Given the description of an element on the screen output the (x, y) to click on. 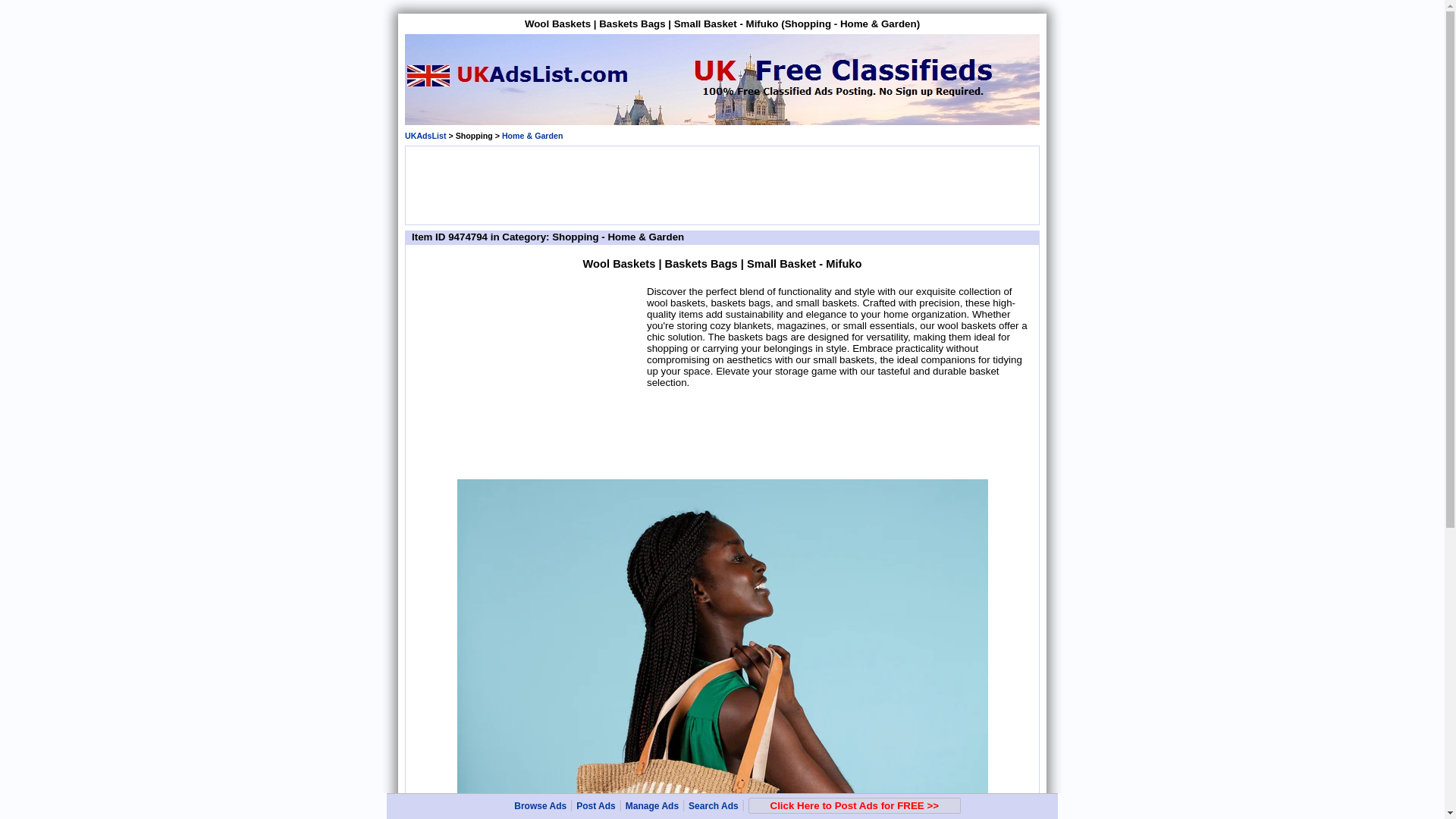
Browse Ads (539, 805)
Manage Ads (652, 805)
Advertisement (721, 183)
UKAdsList (424, 135)
Post Ads (595, 805)
Advertisement (527, 379)
Search Ads (713, 805)
Go Back to UKAdsList.com Home Page (424, 135)
